Given the description of an element on the screen output the (x, y) to click on. 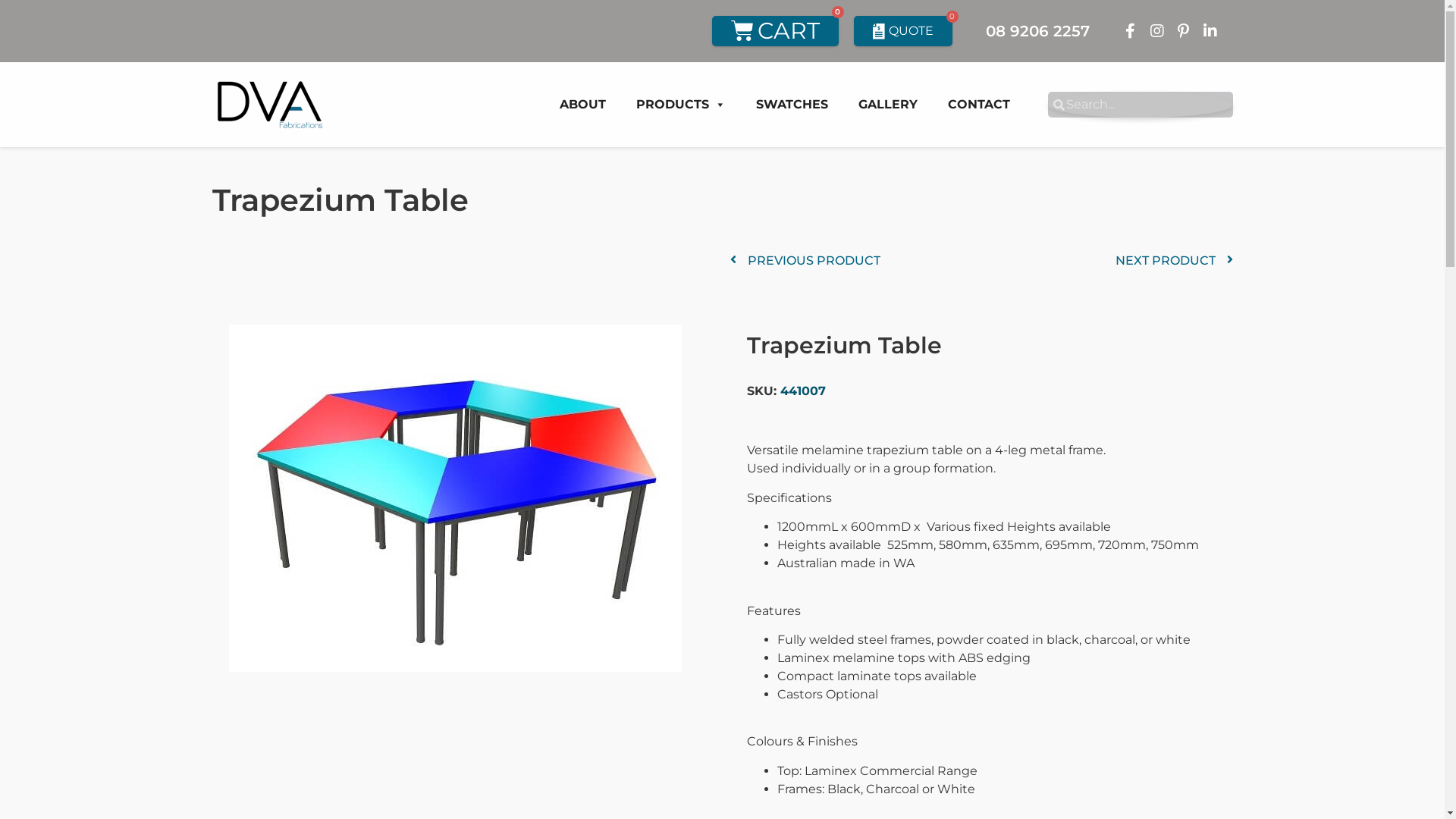
GALLERY Element type: text (887, 104)
Search Element type: hover (1148, 104)
NEXT PRODUCT Element type: text (1173, 260)
QUOTE Element type: text (902, 30)
PREVIOUS PRODUCT Element type: text (855, 260)
CONTACT Element type: text (978, 104)
08 9206 2257 Element type: text (1037, 30)
PRODUCTS Element type: text (679, 104)
SWATCHES Element type: text (790, 104)
ABOUT Element type: text (582, 104)
